Given the description of an element on the screen output the (x, y) to click on. 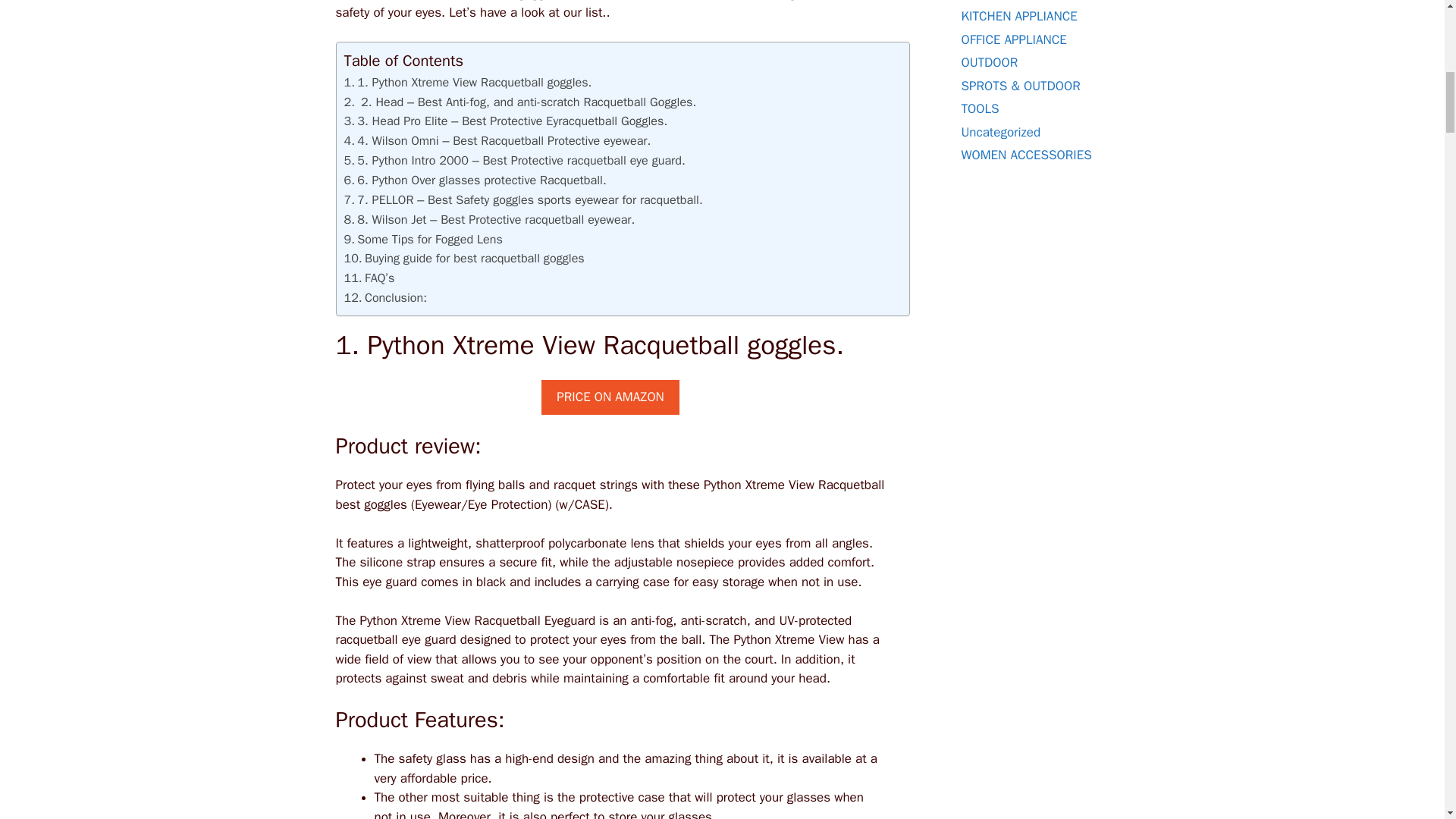
6. Python Over glasses protective Racquetball.  (476, 180)
1. Python Xtreme View Racquetball goggles. (467, 82)
Some Tips for Fogged Lens (422, 239)
Some Tips for Fogged Lens (422, 239)
1. Python Xtreme View Racquetball goggles. (467, 82)
Buying guide for best racquetball goggles (464, 258)
